Given the description of an element on the screen output the (x, y) to click on. 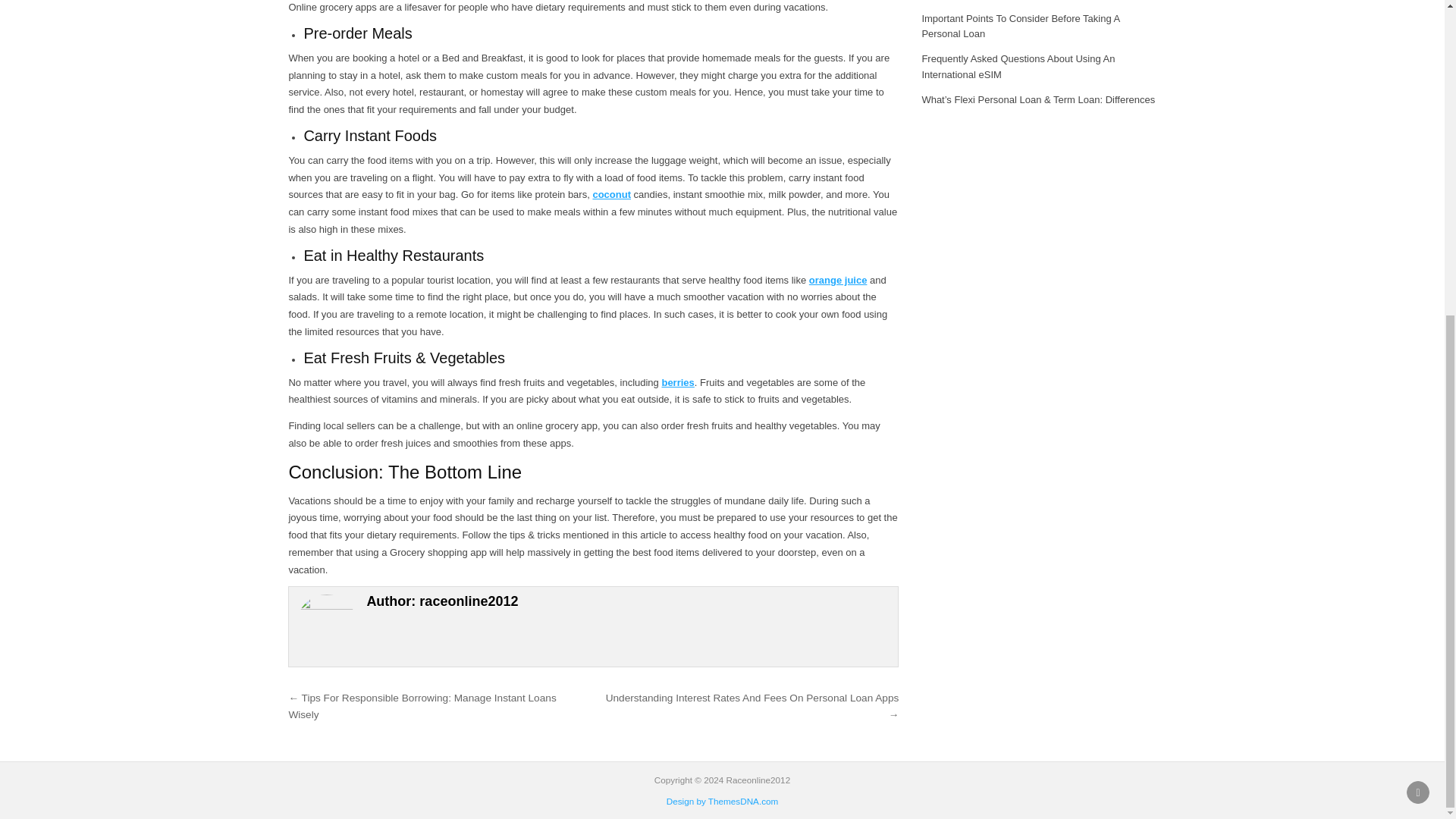
Frequently Asked Questions About Using An International eSIM (1018, 66)
coconut (611, 194)
Design by ThemesDNA.com (722, 800)
Scroll to Top (1417, 286)
SCROLL TO TOP (1417, 286)
Important Points To Consider Before Taking A Personal Loan (1020, 26)
berries (677, 382)
SCROLL TO TOP (1417, 286)
raceonline2012 (468, 601)
orange juice (838, 279)
